Given the description of an element on the screen output the (x, y) to click on. 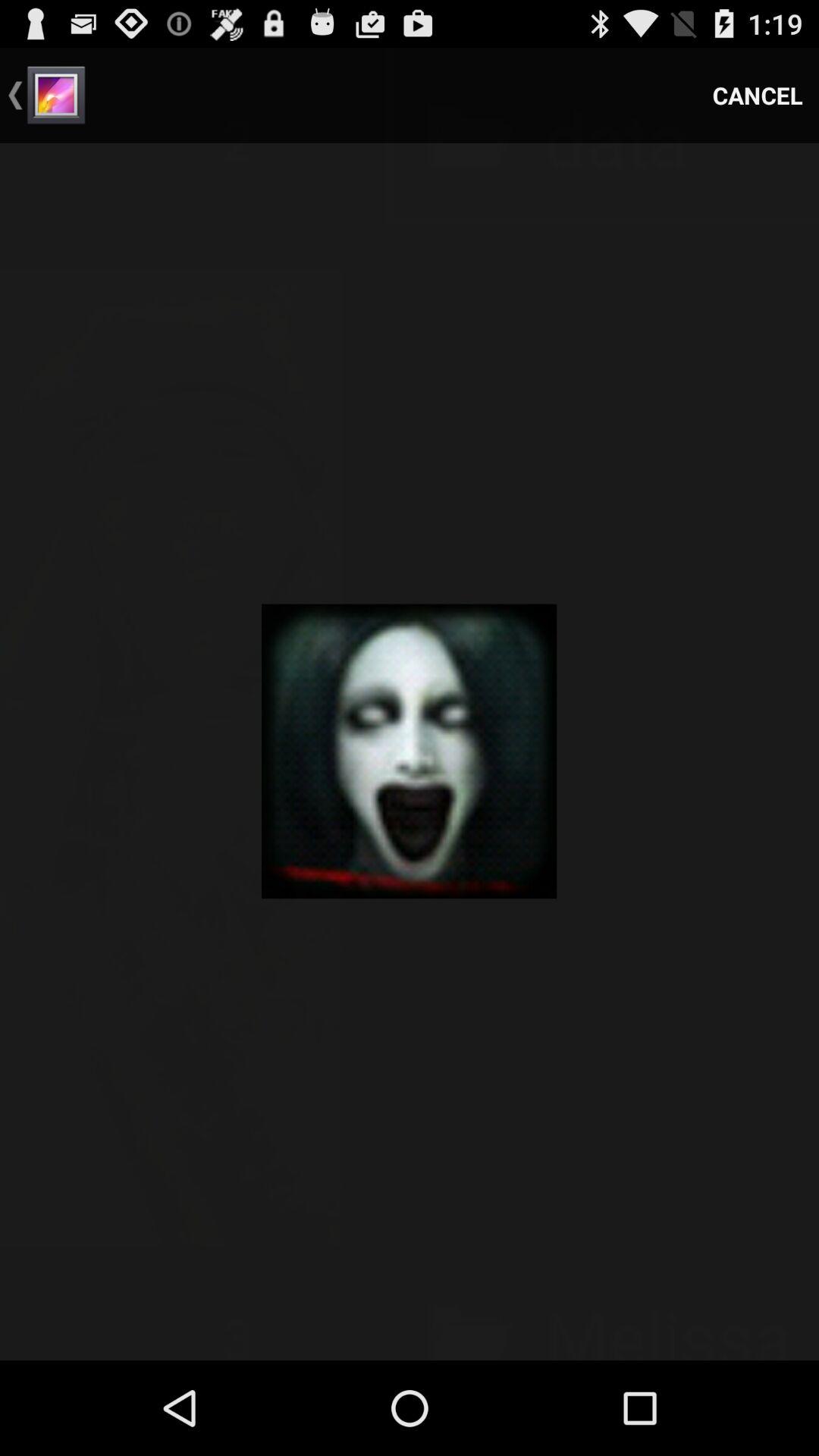
swipe to the cancel (757, 95)
